Given the description of an element on the screen output the (x, y) to click on. 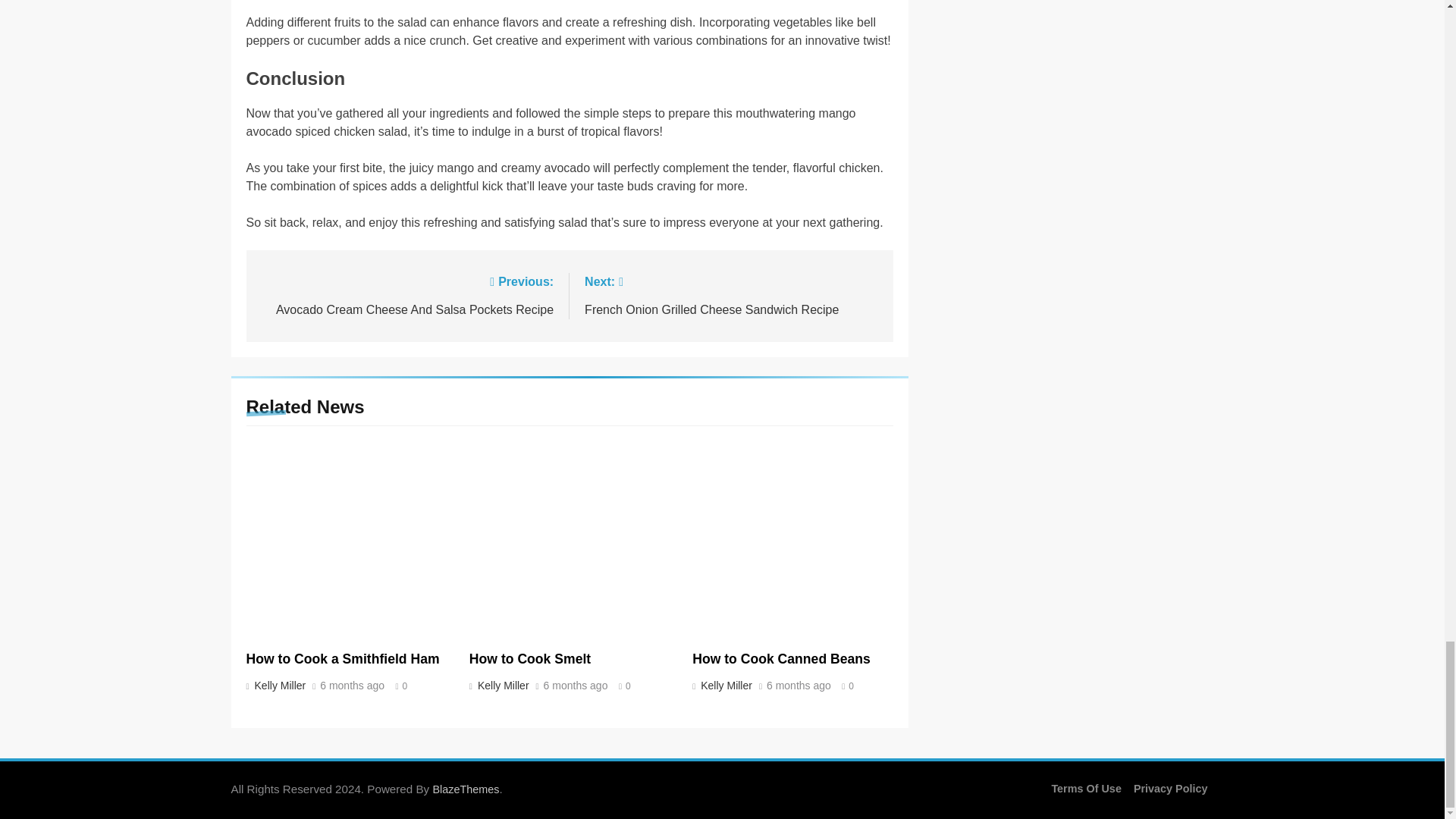
Privacy Policy (1171, 788)
Kelly Miller (278, 685)
Terms Of Use (1086, 788)
6 months ago (575, 685)
BlazeThemes (465, 788)
Kelly Miller (501, 685)
How to Cook Canned Beans (781, 658)
How to Cook a Smithfield Ham (342, 658)
6 months ago (406, 294)
